Given the description of an element on the screen output the (x, y) to click on. 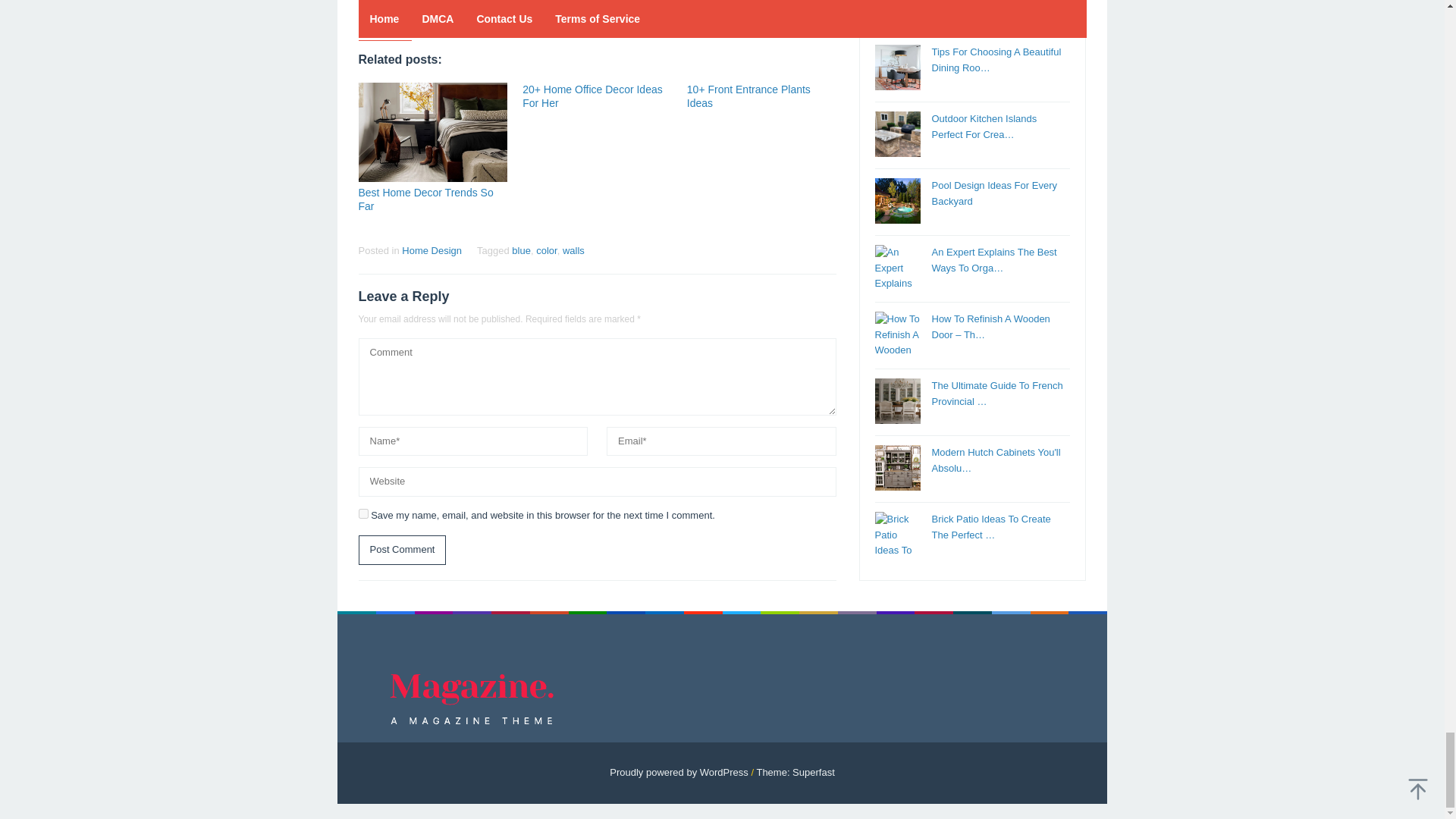
Permalink to: Best Home Decor Trends So Far (432, 131)
Pin this (421, 13)
Whatsapp (475, 13)
Share this (369, 13)
Proudly powered by WordPress (679, 772)
Theme: Superfast (794, 772)
yes (363, 513)
Post Comment (401, 550)
walls (573, 250)
Home Design (431, 250)
Best Home Decor Trends So Far (425, 199)
blue (521, 250)
color (545, 250)
Telegram Share (449, 13)
Permalink to: Best Home Decor Trends So Far (425, 199)
